Given the description of an element on the screen output the (x, y) to click on. 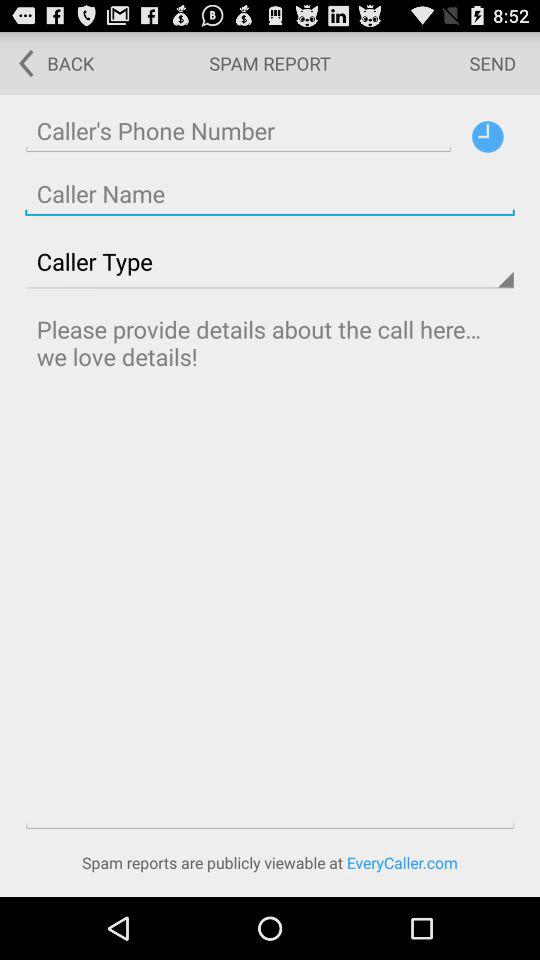
write the caller name (270, 193)
